Given the description of an element on the screen output the (x, y) to click on. 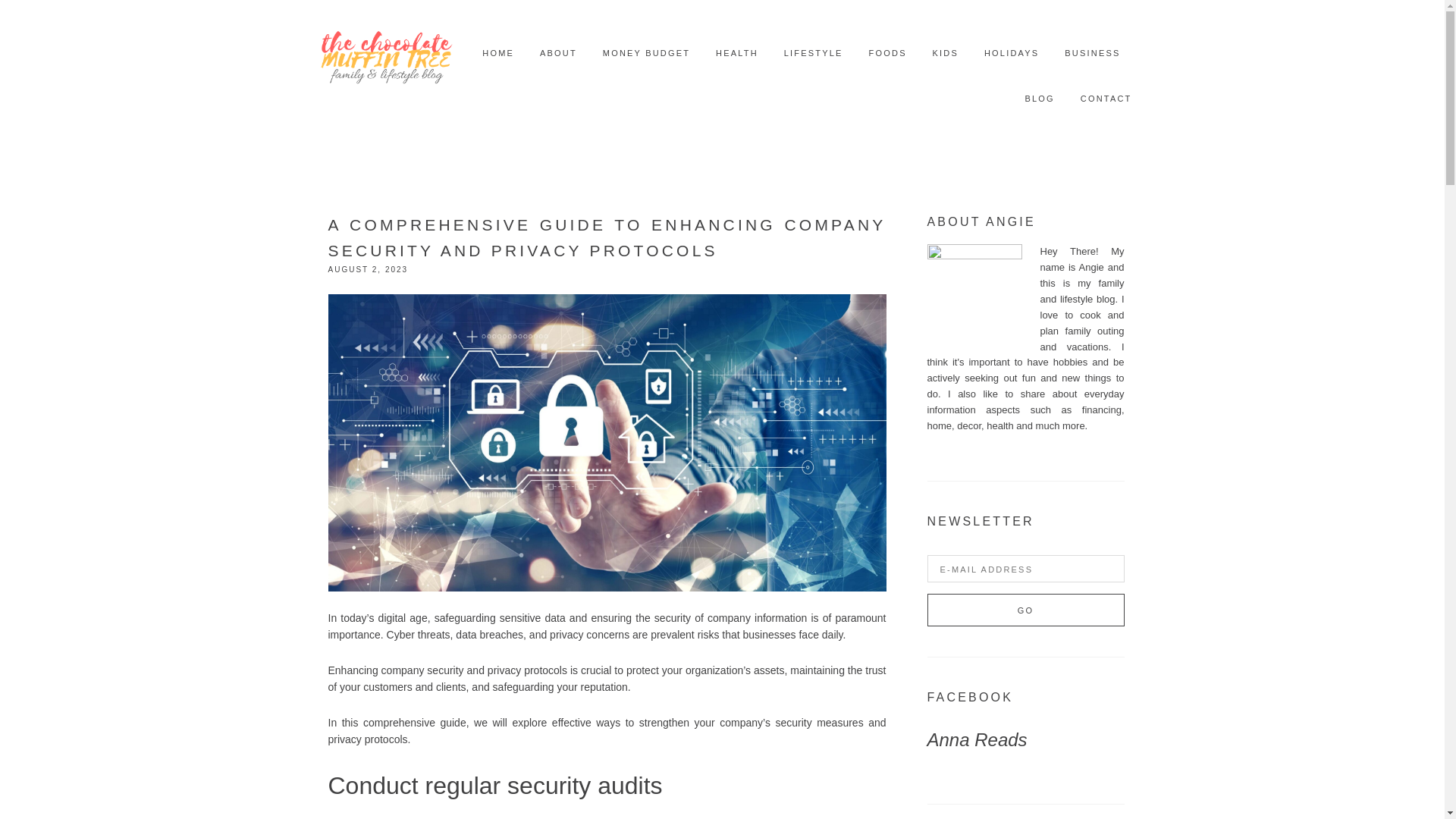
CONTACT (1106, 98)
MONEY BUDGET (646, 53)
HOLIDAYS (1011, 53)
LIFESTYLE (813, 53)
BUSINESS (1091, 53)
Go (1025, 609)
HEALTH (737, 53)
THE CHOCOLATE MUFFIN TREE (386, 53)
